Given the description of an element on the screen output the (x, y) to click on. 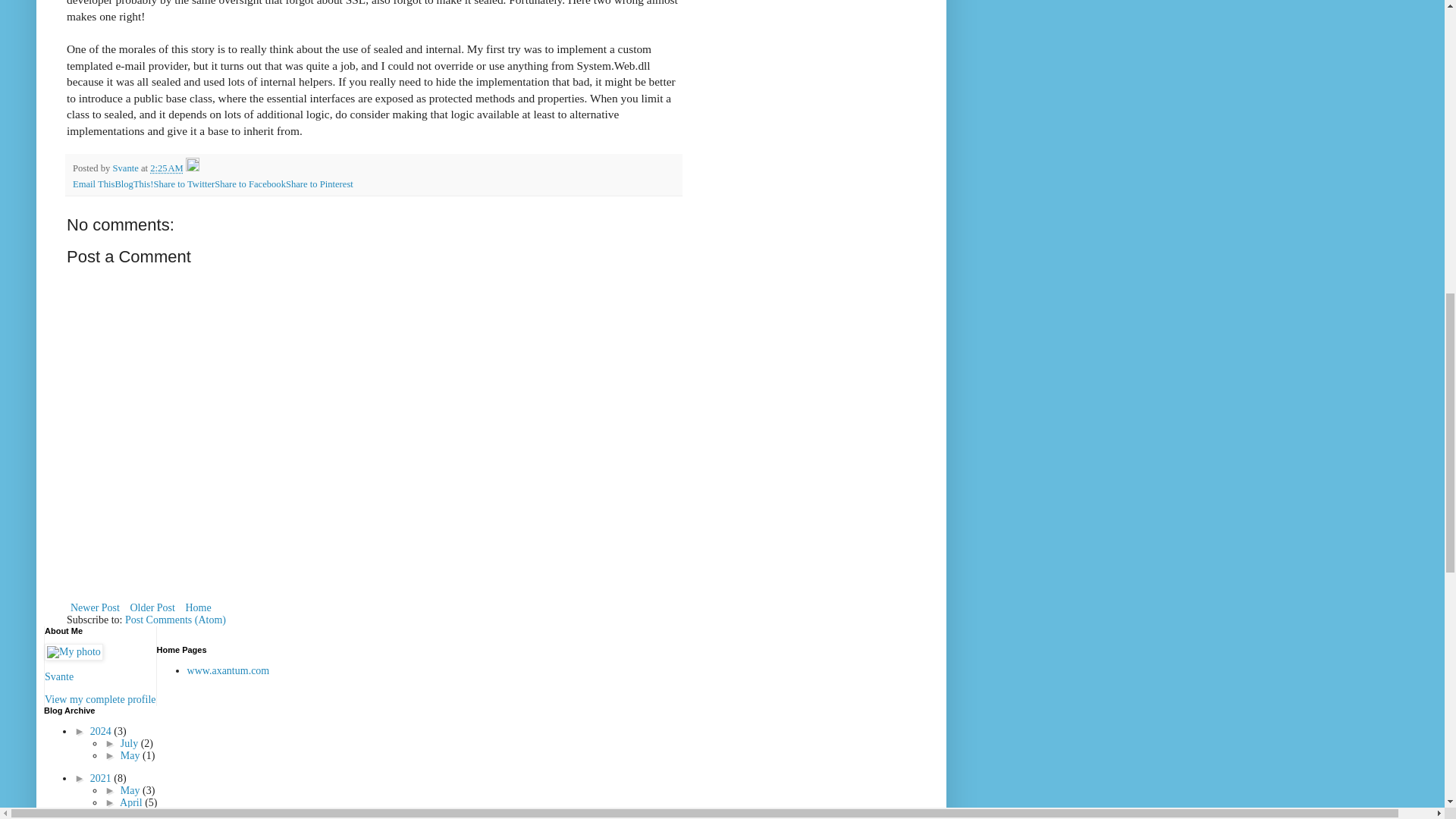
author profile (125, 167)
July (130, 743)
BlogThis! (133, 184)
Older Post (152, 607)
Older Post (152, 607)
Edit Post (192, 167)
Share to Pinterest (319, 184)
Svante (125, 167)
Email This (93, 184)
Share to Facebook (249, 184)
Share to Twitter (183, 184)
View my complete profile (100, 699)
BlogThis! (133, 184)
2021 (102, 778)
